Given the description of an element on the screen output the (x, y) to click on. 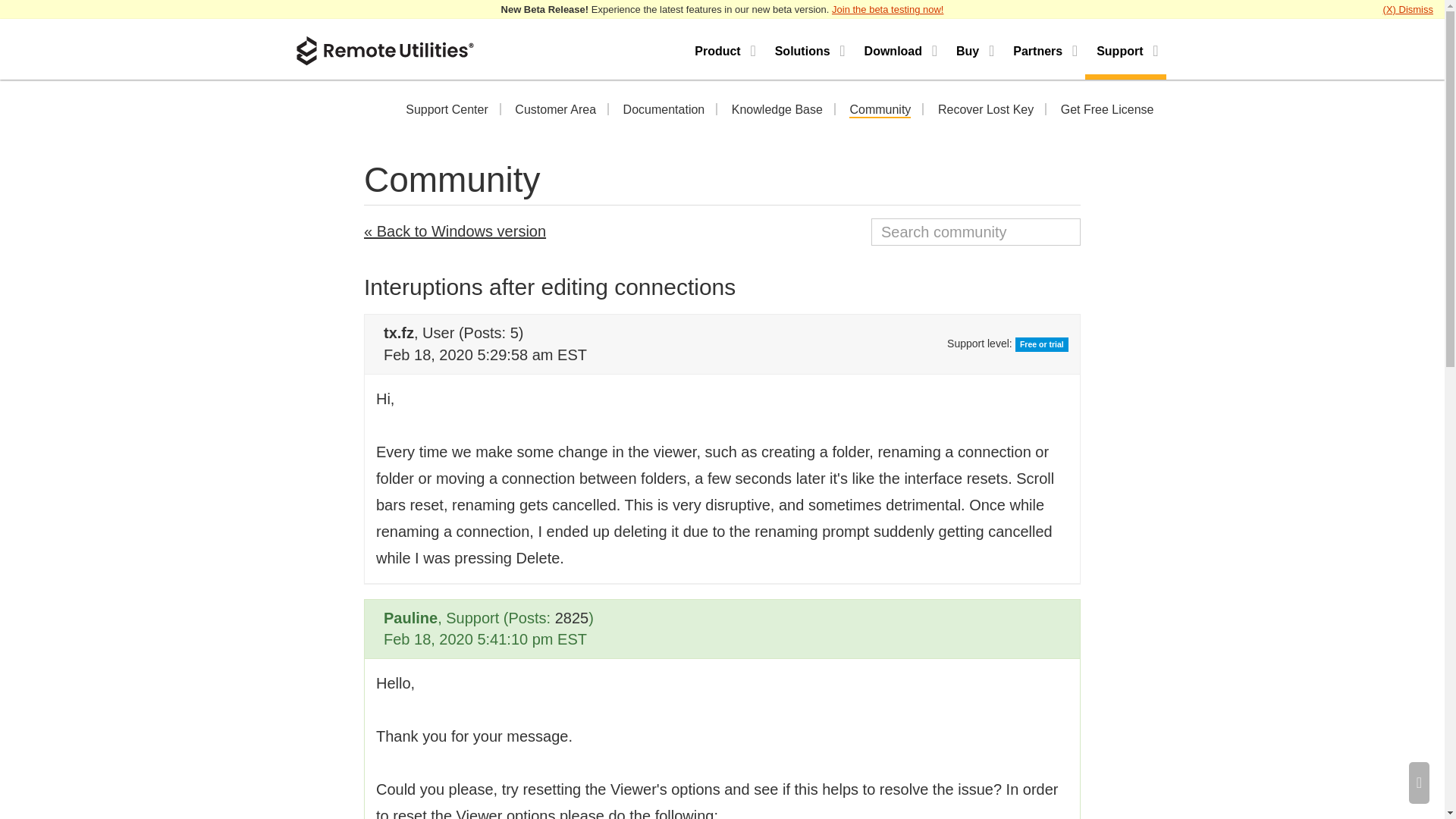
Download (898, 48)
Partners (1042, 48)
Buy (972, 48)
Product (722, 48)
Join the beta testing now! (887, 9)
Support Center (446, 110)
Support (1125, 48)
Solutions (807, 48)
